Given the description of an element on the screen output the (x, y) to click on. 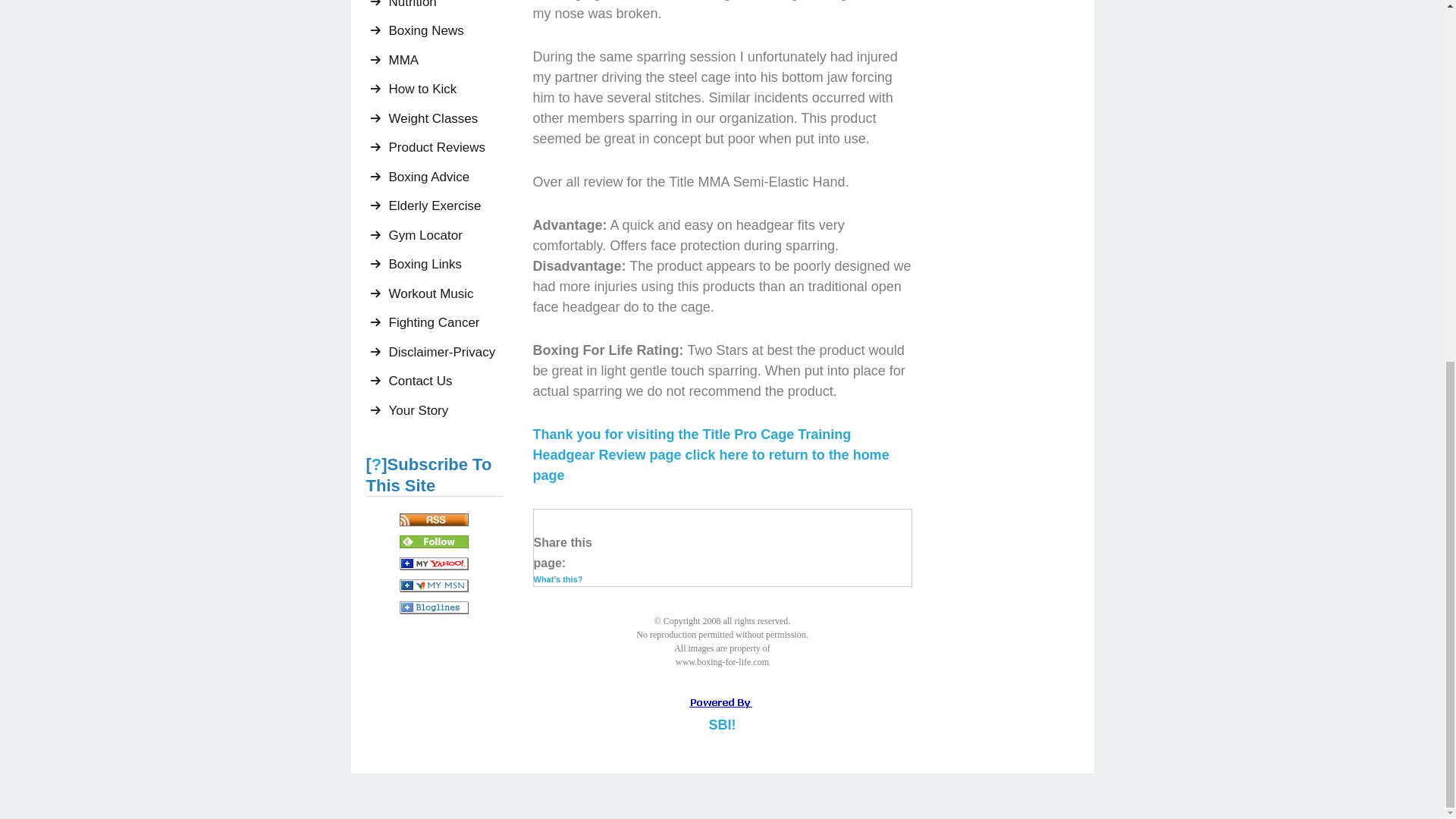
How to Kick (445, 89)
Gym Locator (445, 234)
Disclaimer-Privacy (445, 351)
Elderly Exercise (445, 206)
Workout Music (445, 293)
Boxing Links (445, 264)
Your Story (445, 411)
Contact Us (445, 380)
Weight Classes (445, 117)
Boxing Advice (445, 176)
Boxing News (445, 31)
Product Reviews (445, 147)
SBI! (721, 724)
Nutrition (445, 7)
